Given the description of an element on the screen output the (x, y) to click on. 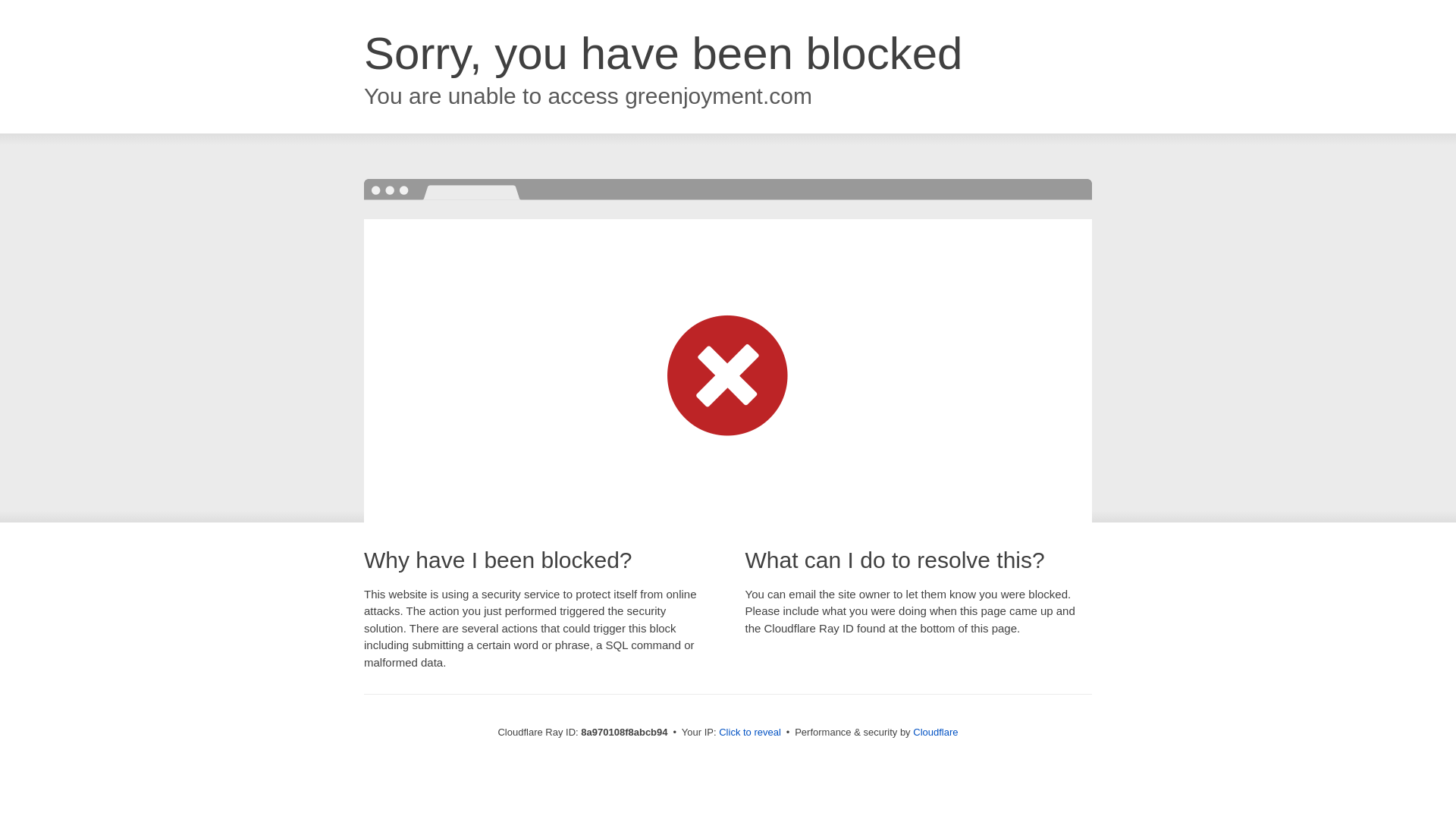
Click to reveal (749, 732)
Cloudflare (935, 731)
